Given the description of an element on the screen output the (x, y) to click on. 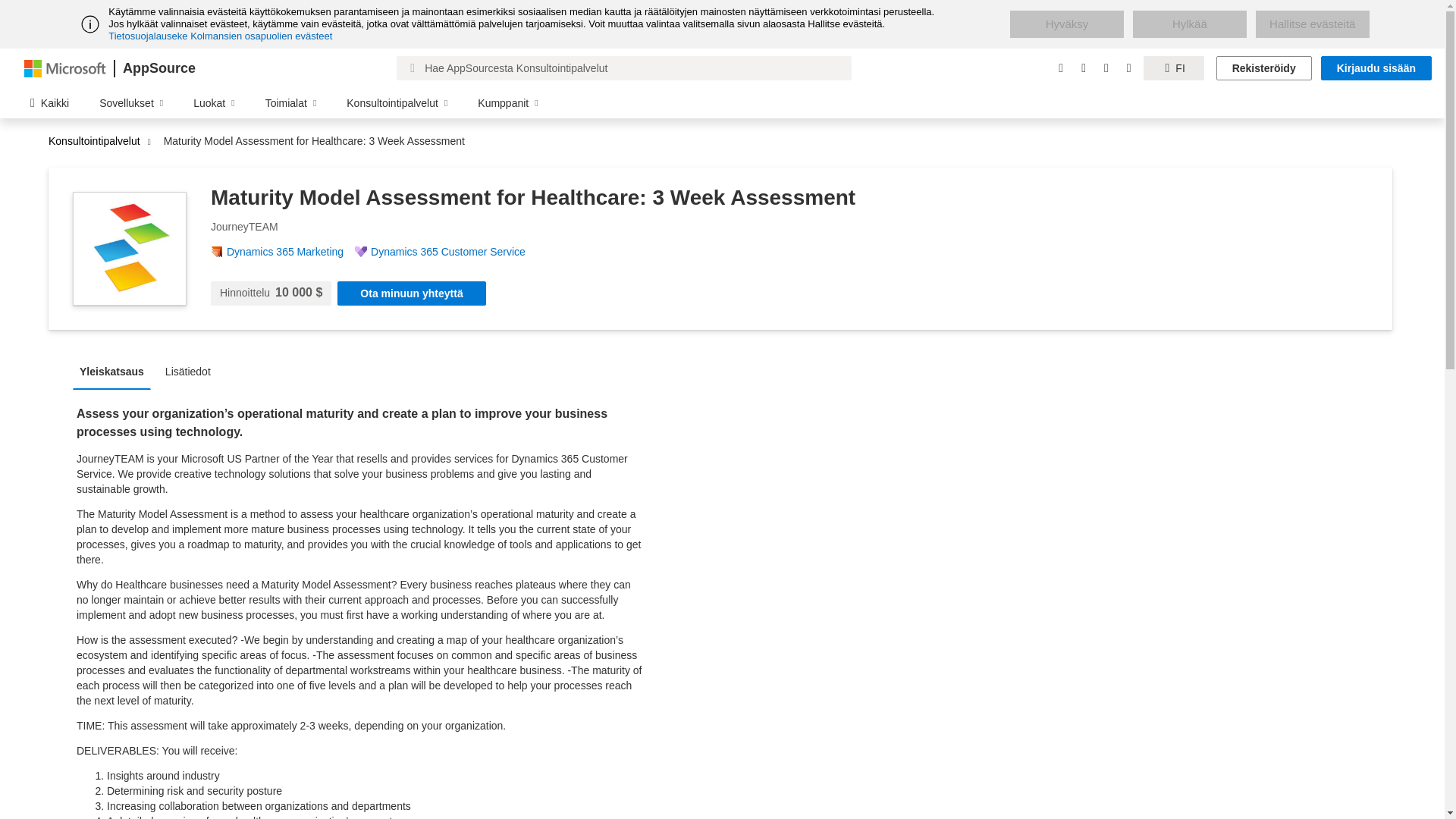
Microsoft (65, 67)
Dynamics 365 Customer Service (454, 251)
Tietosuojalauseke (147, 35)
Dynamics 365 Customer Service (454, 251)
Konsultointipalvelut (98, 141)
Dynamics 365 Marketing (291, 251)
AppSource (158, 67)
Dynamics 365 Marketing (291, 251)
Yleiskatsaus (115, 370)
